Given the description of an element on the screen output the (x, y) to click on. 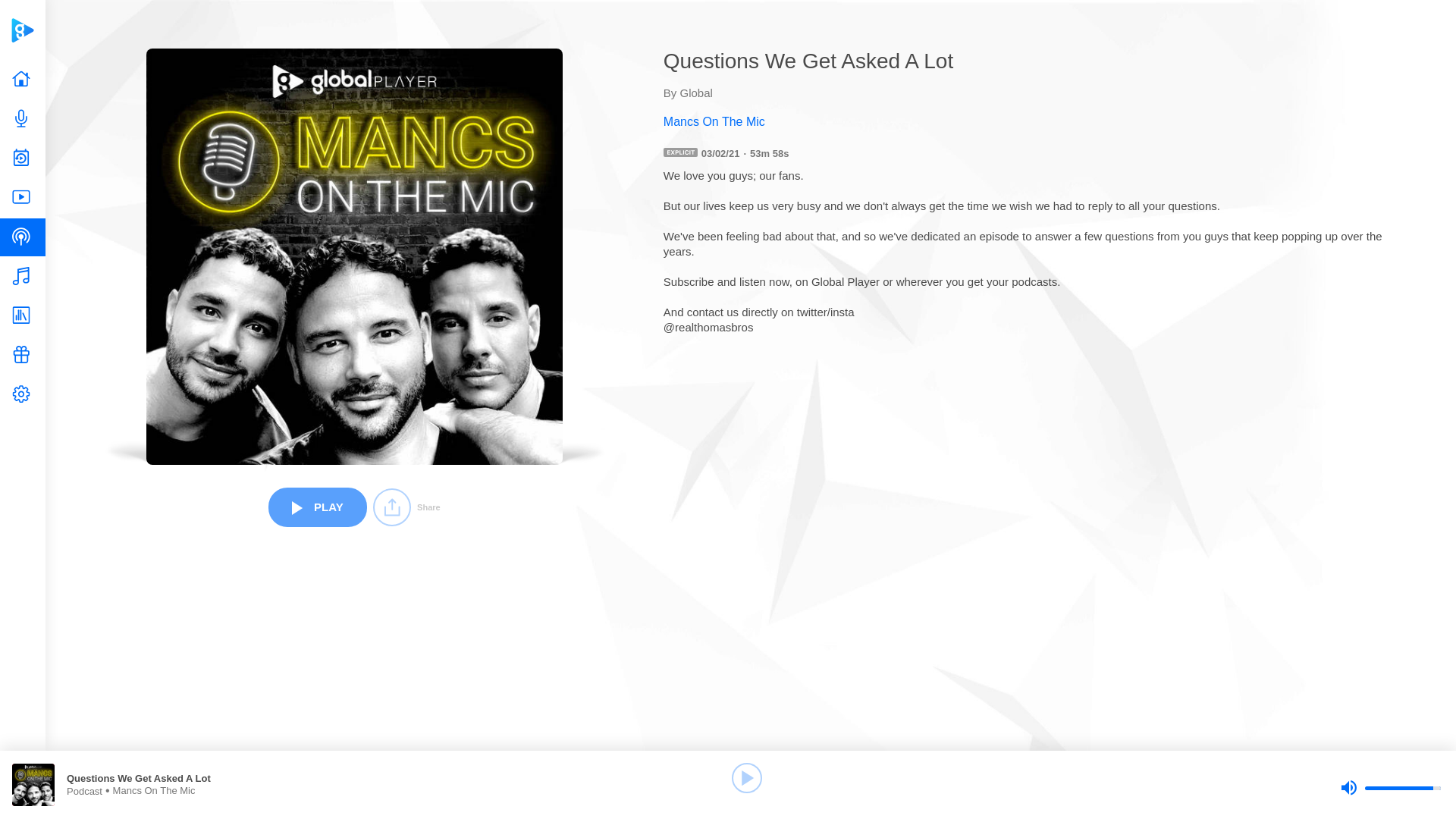
Share (406, 507)
Global Player (22, 30)
Share (406, 507)
Mancs On The Mic (1035, 121)
PLAY (316, 507)
Global Player (22, 30)
